Given the description of an element on the screen output the (x, y) to click on. 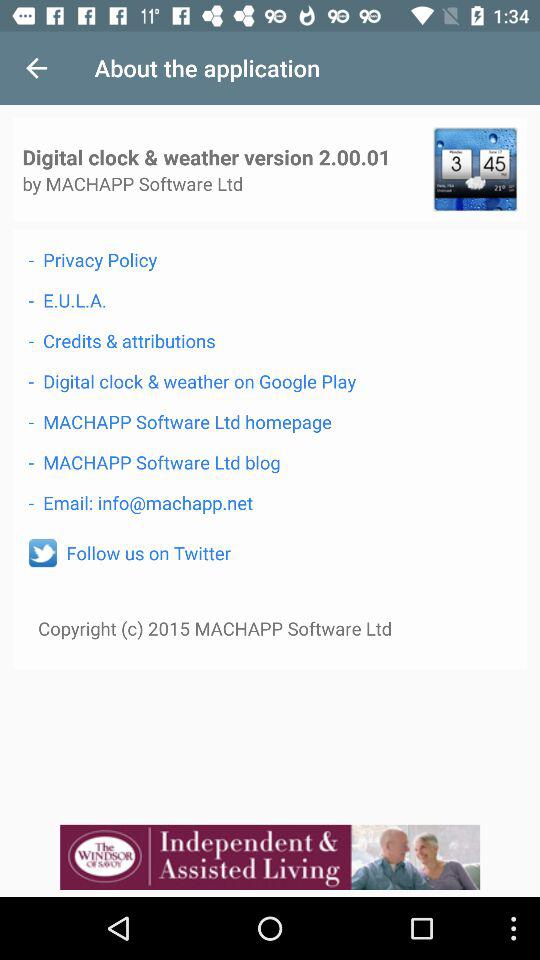
go to icon (42, 553)
